Given the description of an element on the screen output the (x, y) to click on. 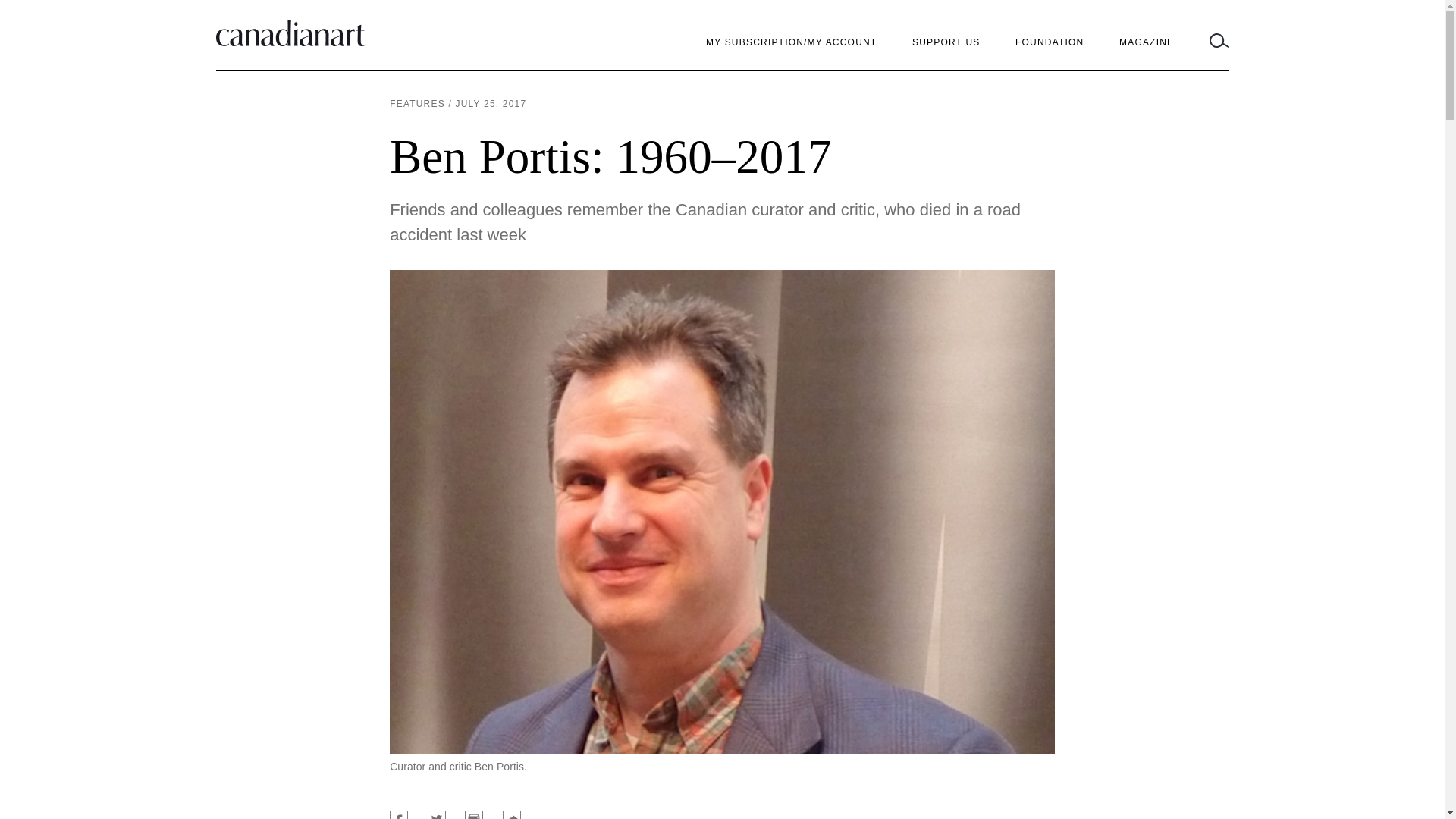
Toggle Search (1218, 42)
SUPPORT US (945, 42)
FOUNDATION (1048, 42)
MAGAZINE (1146, 42)
